Given the description of an element on the screen output the (x, y) to click on. 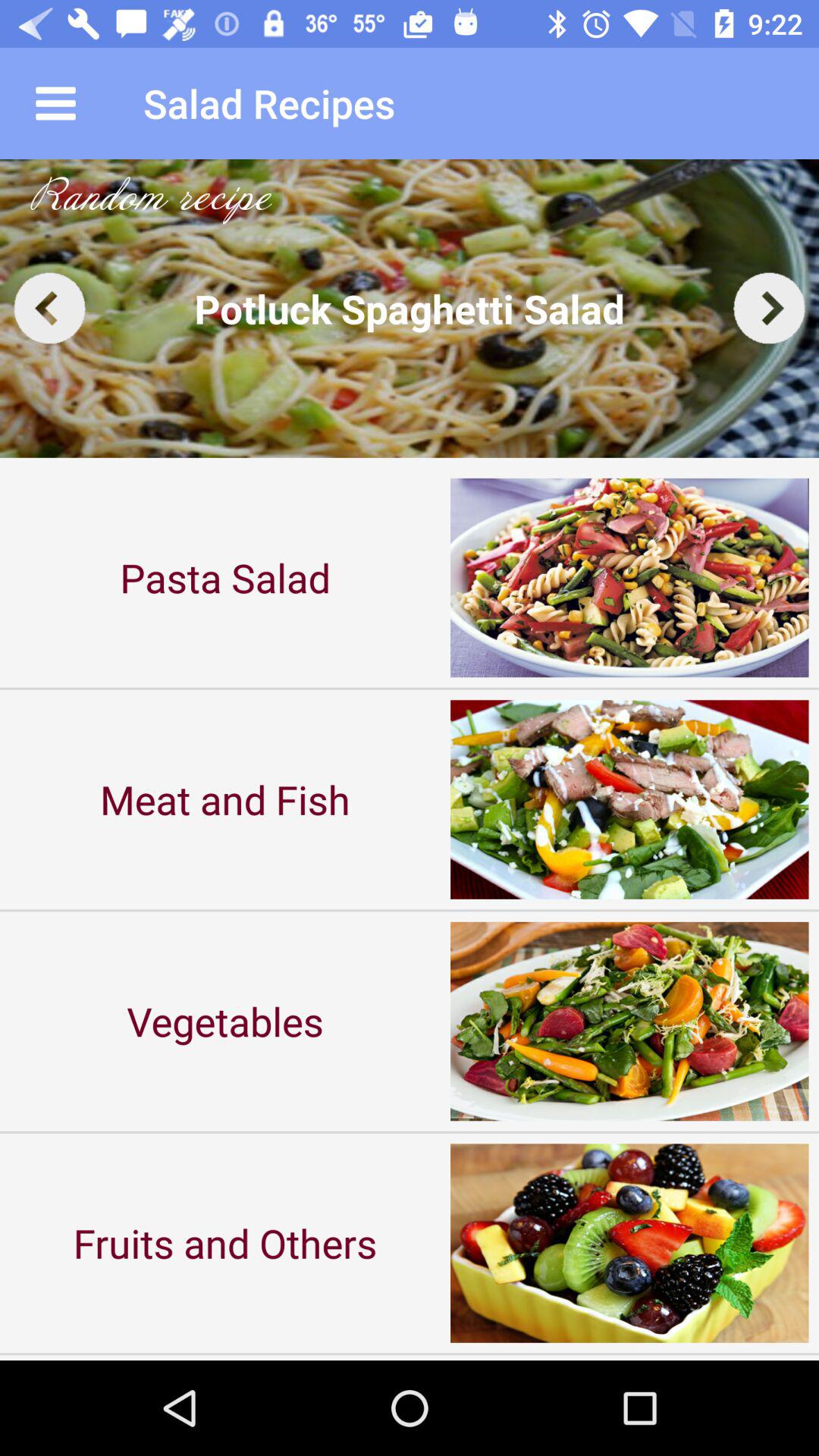
turn off the item above fruits and others icon (225, 1020)
